Given the description of an element on the screen output the (x, y) to click on. 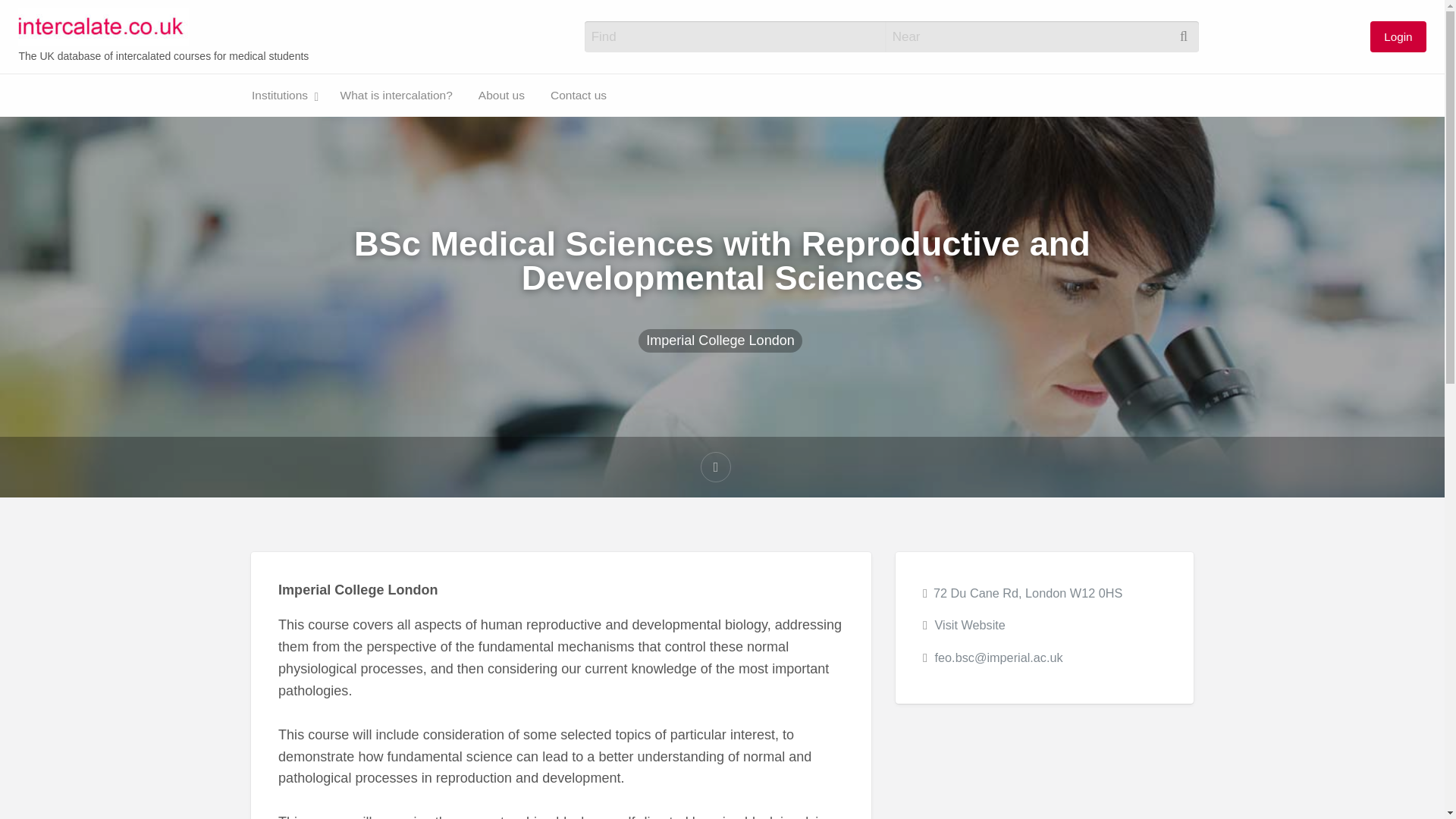
Search (30, 16)
